Given the description of an element on the screen output the (x, y) to click on. 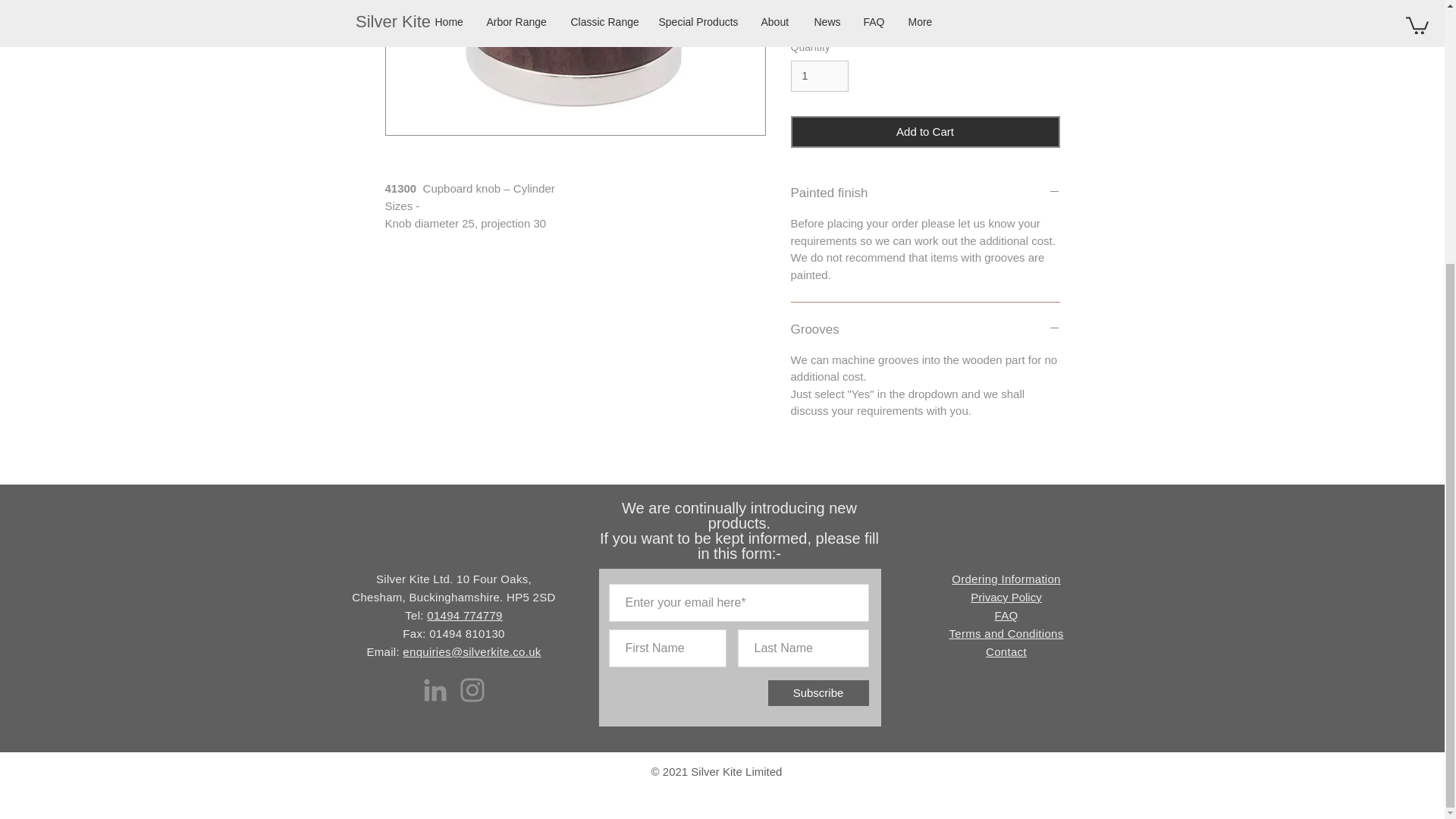
Painted finish (924, 193)
Subscribe (817, 692)
Add to Cart (924, 132)
1 (818, 75)
Ordering Information (1006, 578)
Select (924, 12)
Contact (1005, 651)
Terms and Conditions (1005, 633)
FAQ (1005, 615)
Privacy Policy (1006, 596)
Grooves (924, 330)
01494 774779 (464, 615)
